Given the description of an element on the screen output the (x, y) to click on. 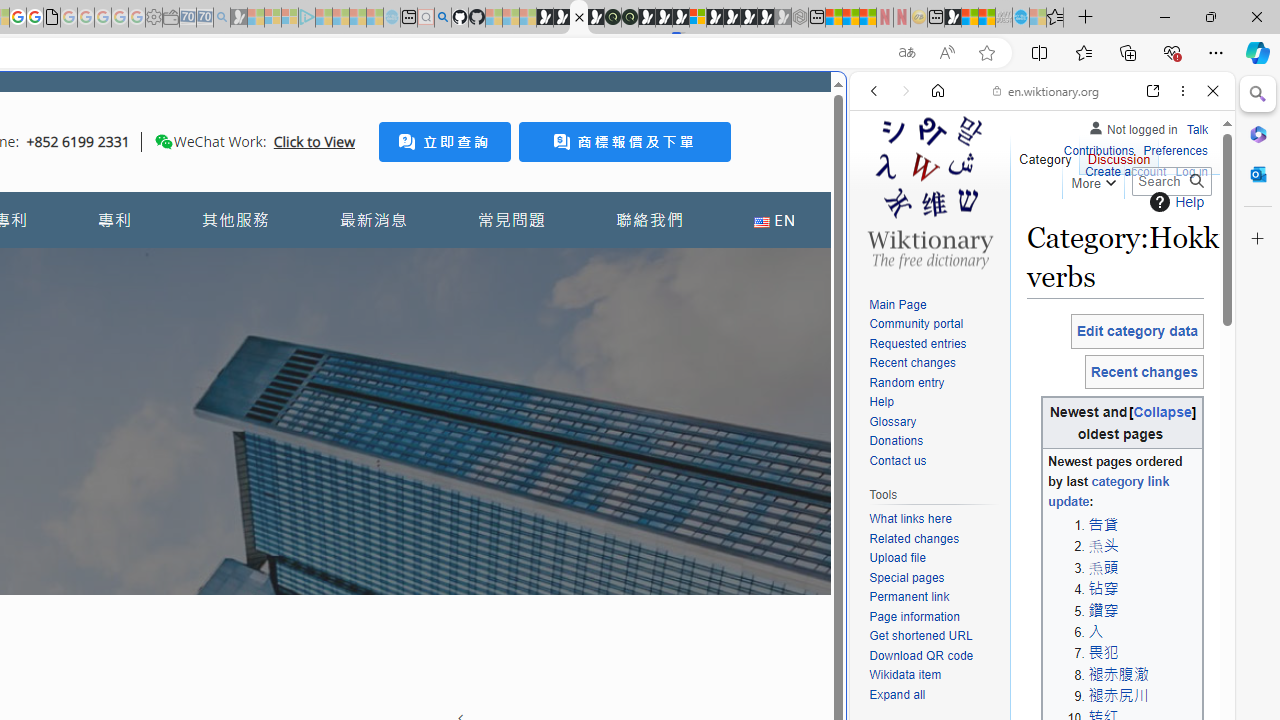
Search Wiktionary (1171, 181)
Random entry (906, 382)
EN (774, 220)
Category (1045, 154)
Class: desktop (163, 141)
Requested entries (917, 343)
Donations (896, 441)
Discussion (1118, 154)
